Given the description of an element on the screen output the (x, y) to click on. 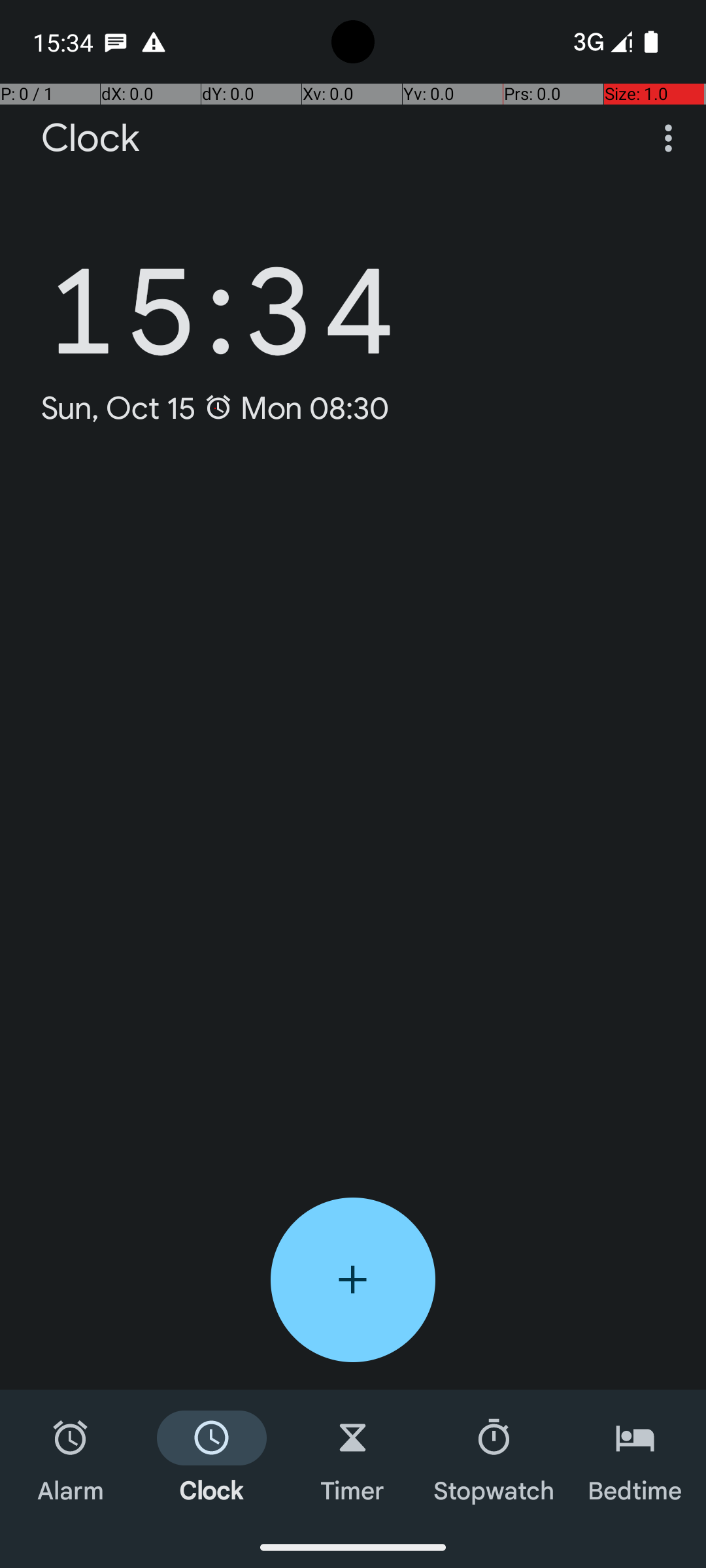
Add city Element type: android.widget.Button (352, 1279)
Sun, Oct 15 A Mon 08:30 Element type: android.widget.TextView (215, 407)
